Given the description of an element on the screen output the (x, y) to click on. 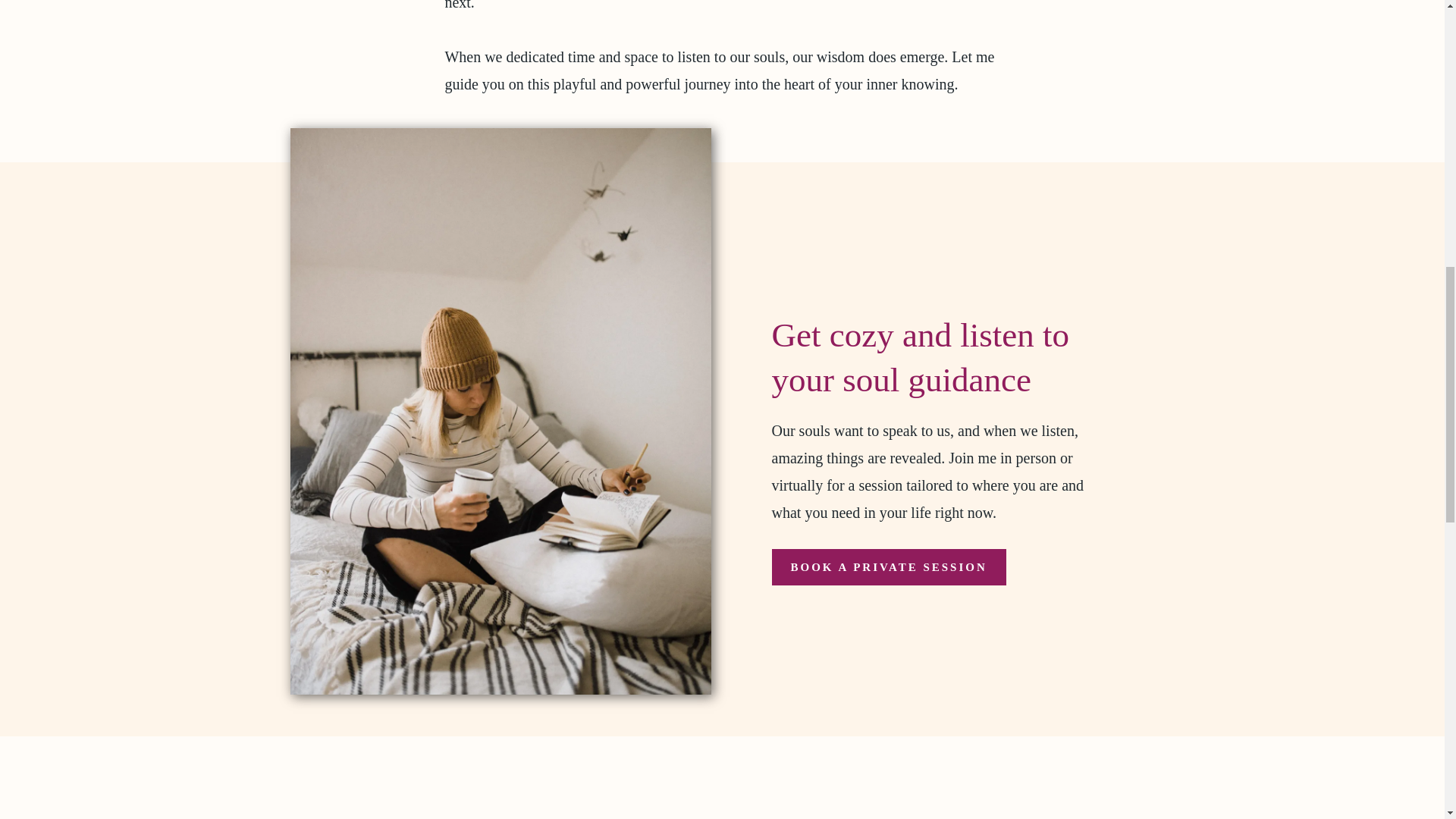
BOOK A PRIVATE SESSION (888, 566)
